Given the description of an element on the screen output the (x, y) to click on. 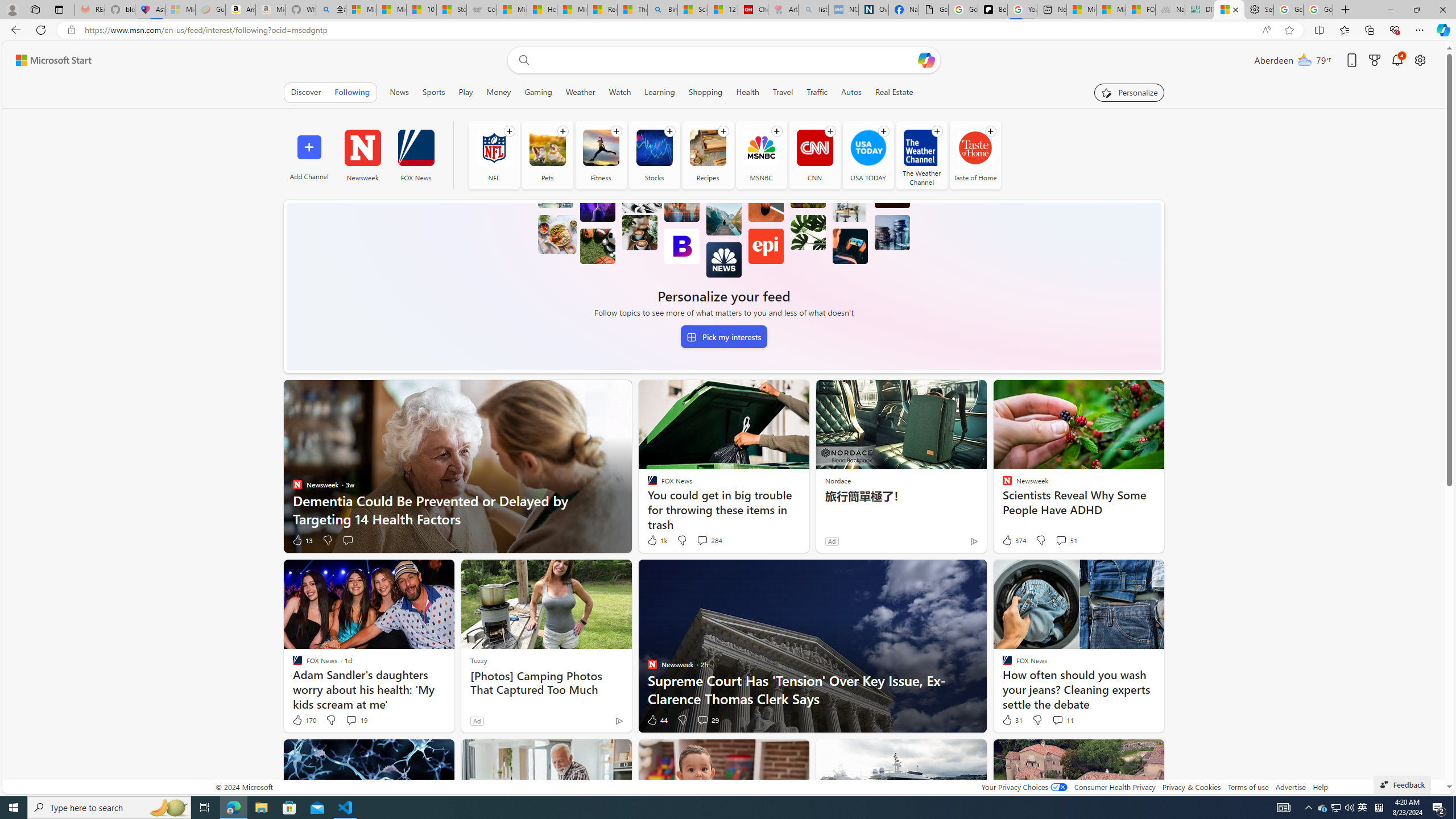
Enter your search term (726, 59)
USA TODAY (868, 147)
Traffic (816, 92)
Gaming (537, 92)
Pick my interests (723, 336)
Mostly cloudy (1304, 59)
13 Like (301, 539)
